Given the description of an element on the screen output the (x, y) to click on. 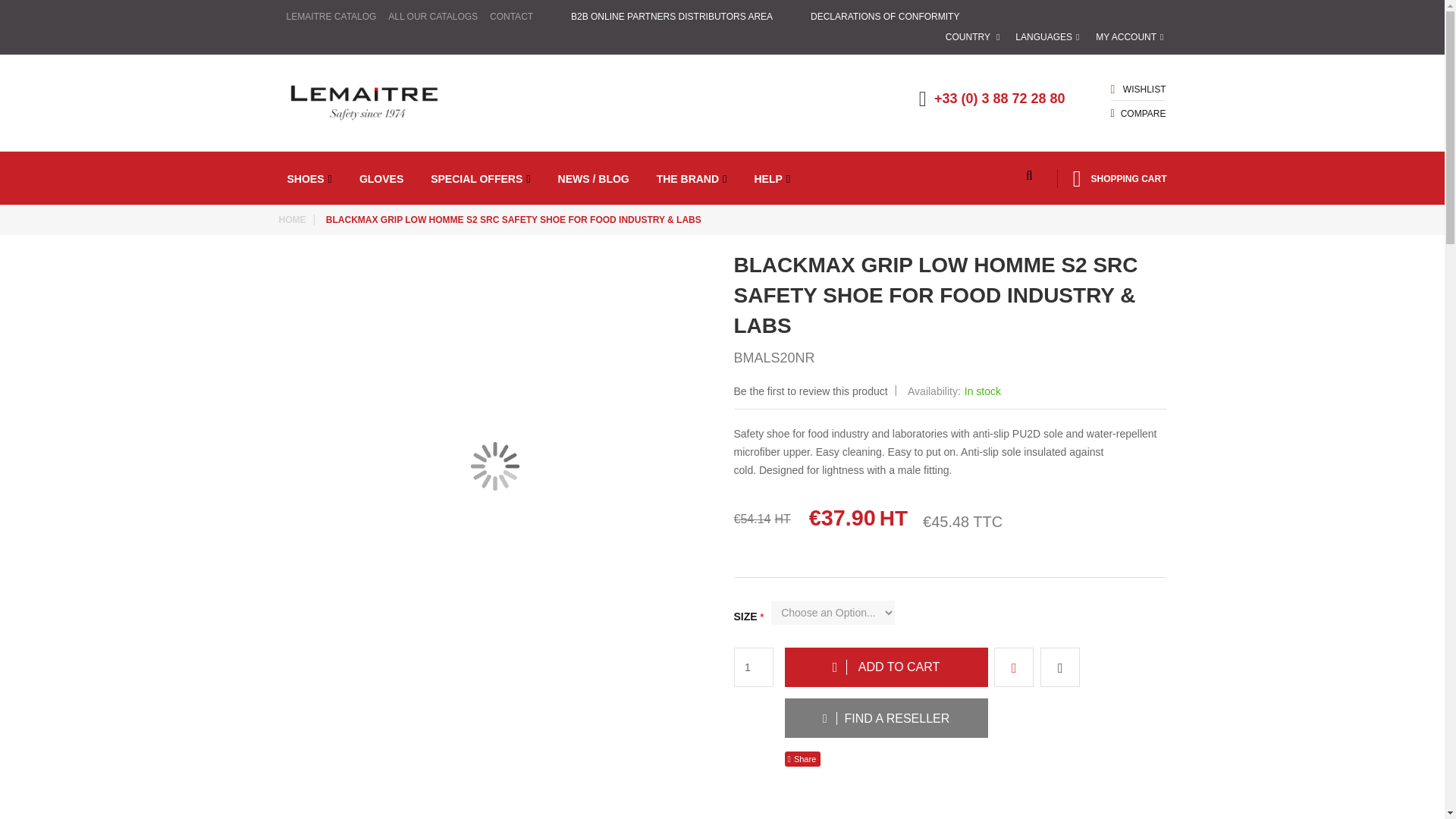
Go to Home Page (296, 219)
COUNTRY  (972, 36)
ALL OUR CATALOGS (432, 16)
COMPARE (1143, 113)
Availability (954, 391)
Email to Friend (802, 758)
LEMAITRE CATALOG (331, 16)
MY ACCOUNT  (1131, 36)
Search (1030, 175)
Add to Cart (885, 667)
